Given the description of an element on the screen output the (x, y) to click on. 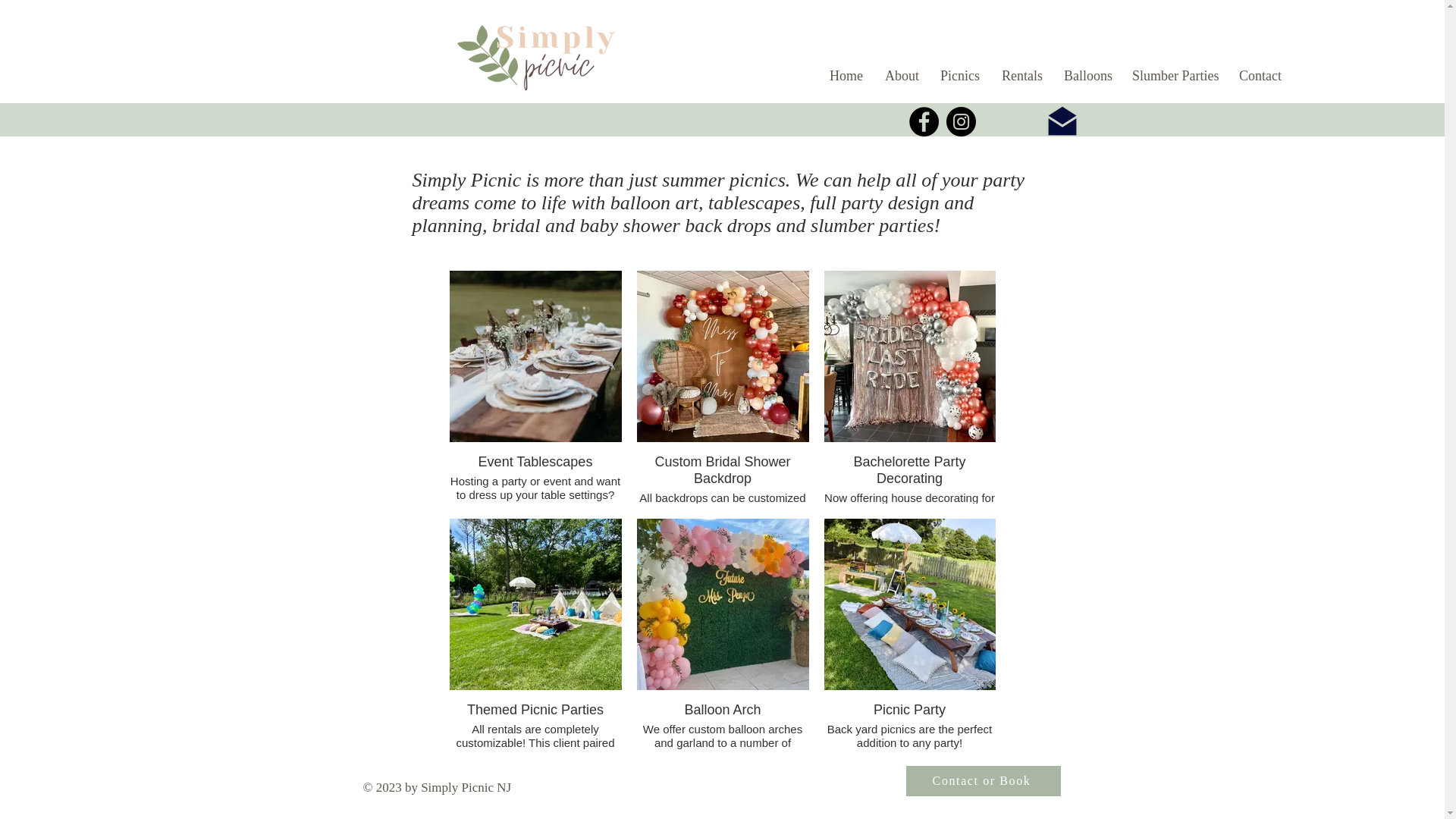
Slumber Parties (1174, 75)
Rentals (1021, 75)
Home (845, 75)
Balloons (1086, 75)
About (900, 75)
Contact (1259, 75)
Picnics (959, 75)
Contact or Book (982, 780)
